Given the description of an element on the screen output the (x, y) to click on. 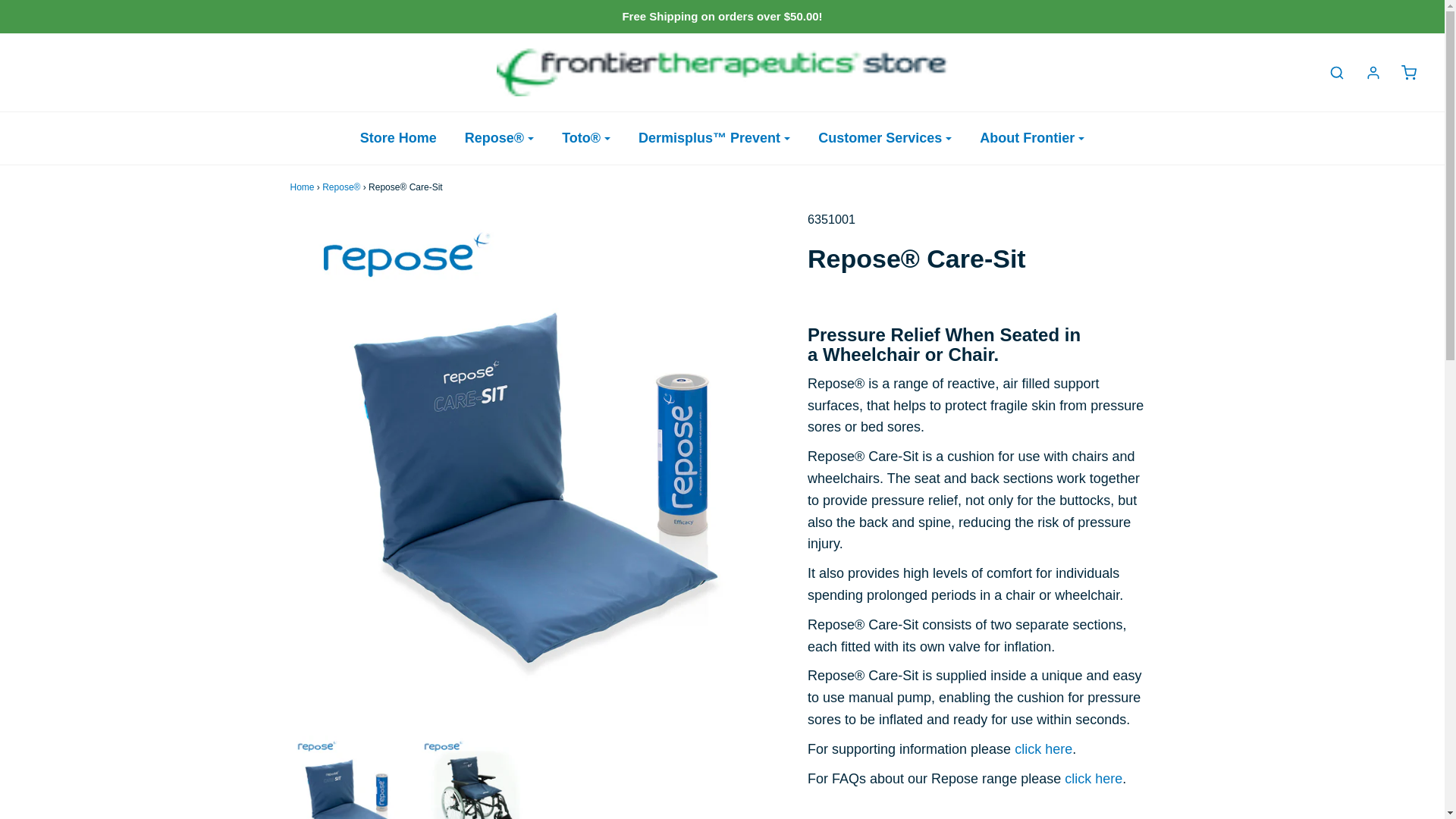
Repose Supporting Info (1042, 749)
Search (1426, 9)
Back to the frontpage (301, 186)
Repose FAQs (1093, 778)
Log in (1365, 72)
Search (1329, 72)
Cart (1401, 72)
